Given the description of an element on the screen output the (x, y) to click on. 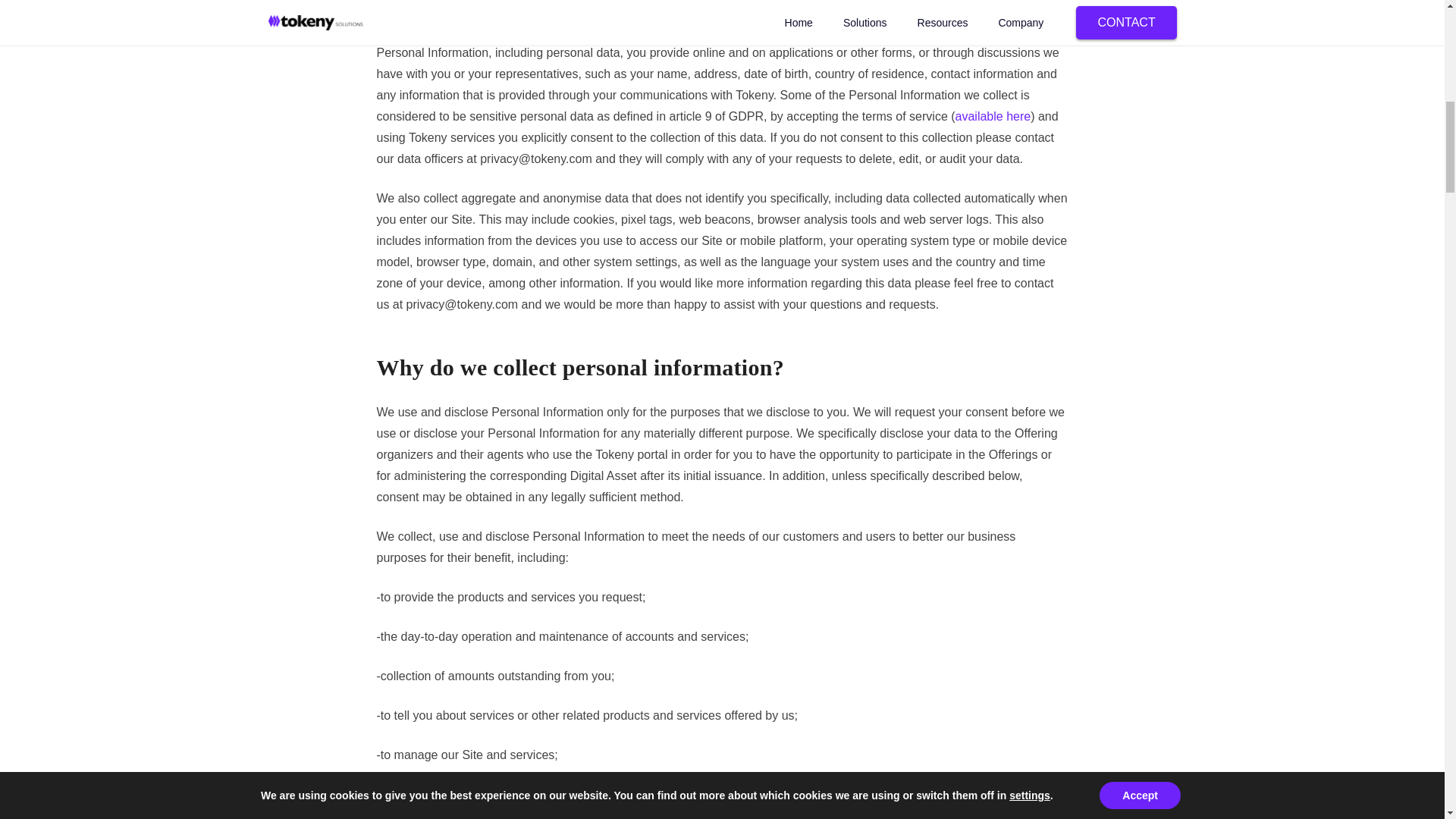
available here (992, 115)
Back to top (1413, 30)
